Given the description of an element on the screen output the (x, y) to click on. 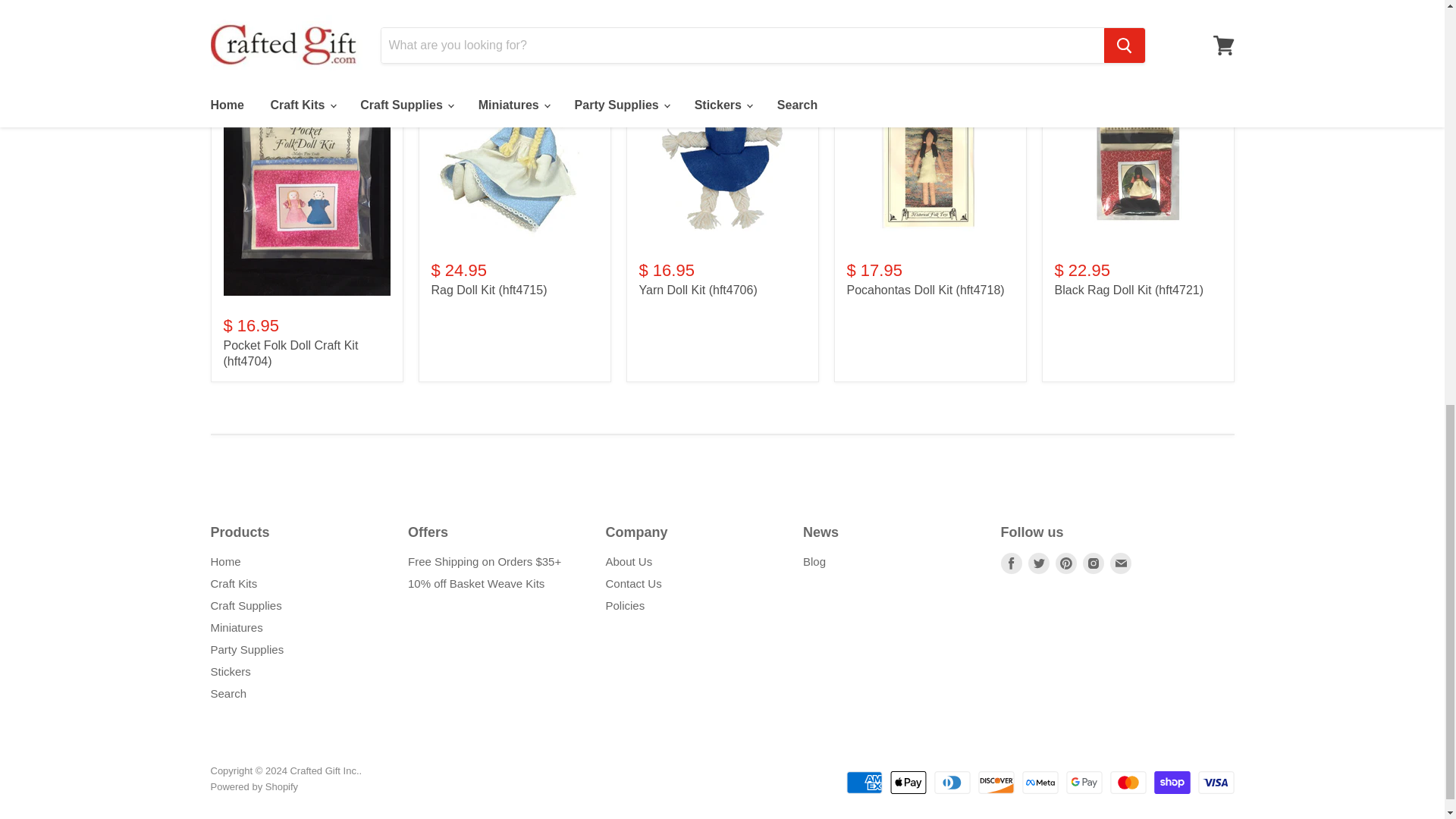
Pinterest (1066, 563)
Instagram (1093, 563)
E-mail (1120, 563)
Twitter (1038, 563)
Facebook (1011, 563)
